Given the description of an element on the screen output the (x, y) to click on. 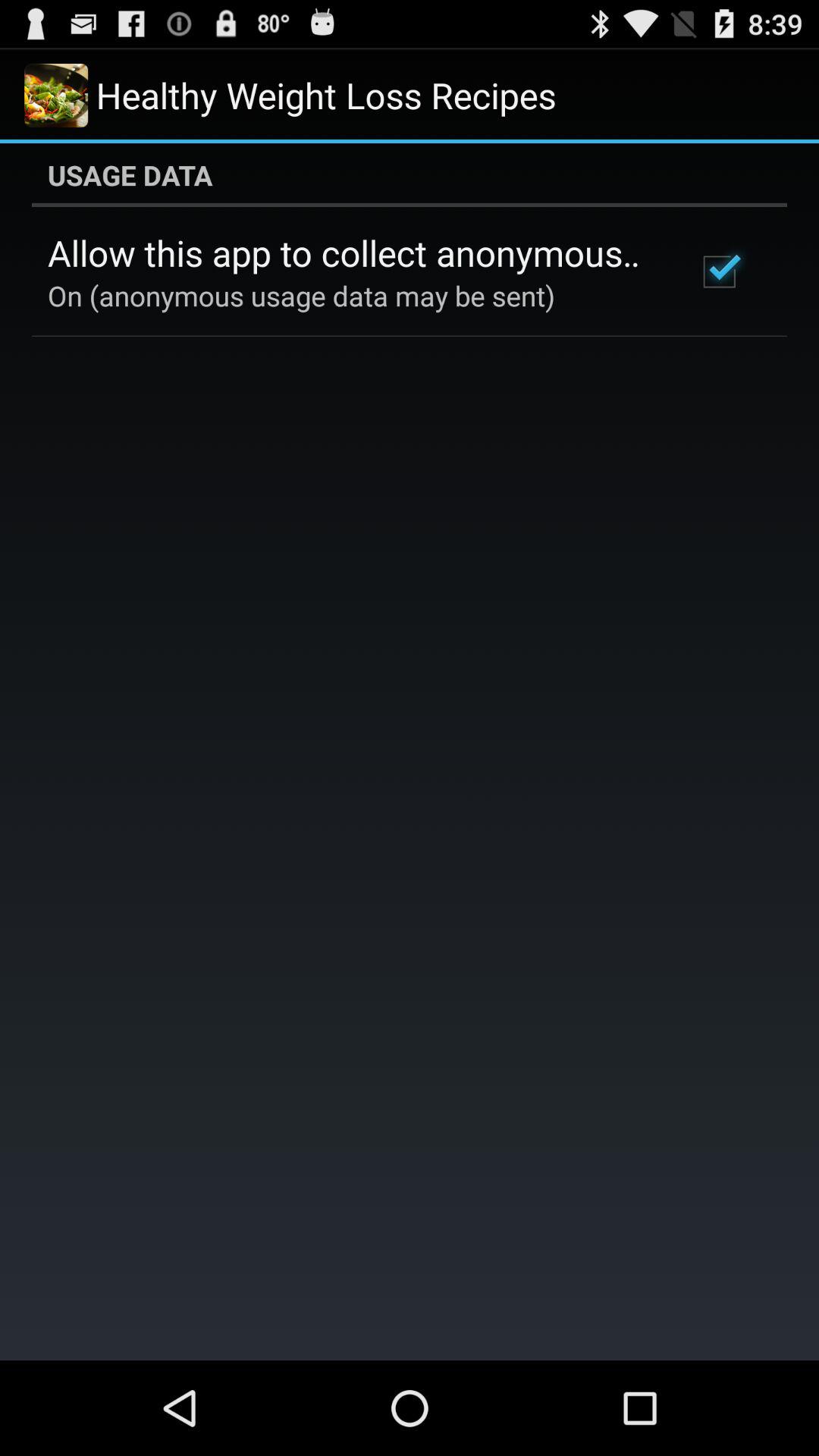
click item next to allow this app icon (719, 271)
